Given the description of an element on the screen output the (x, y) to click on. 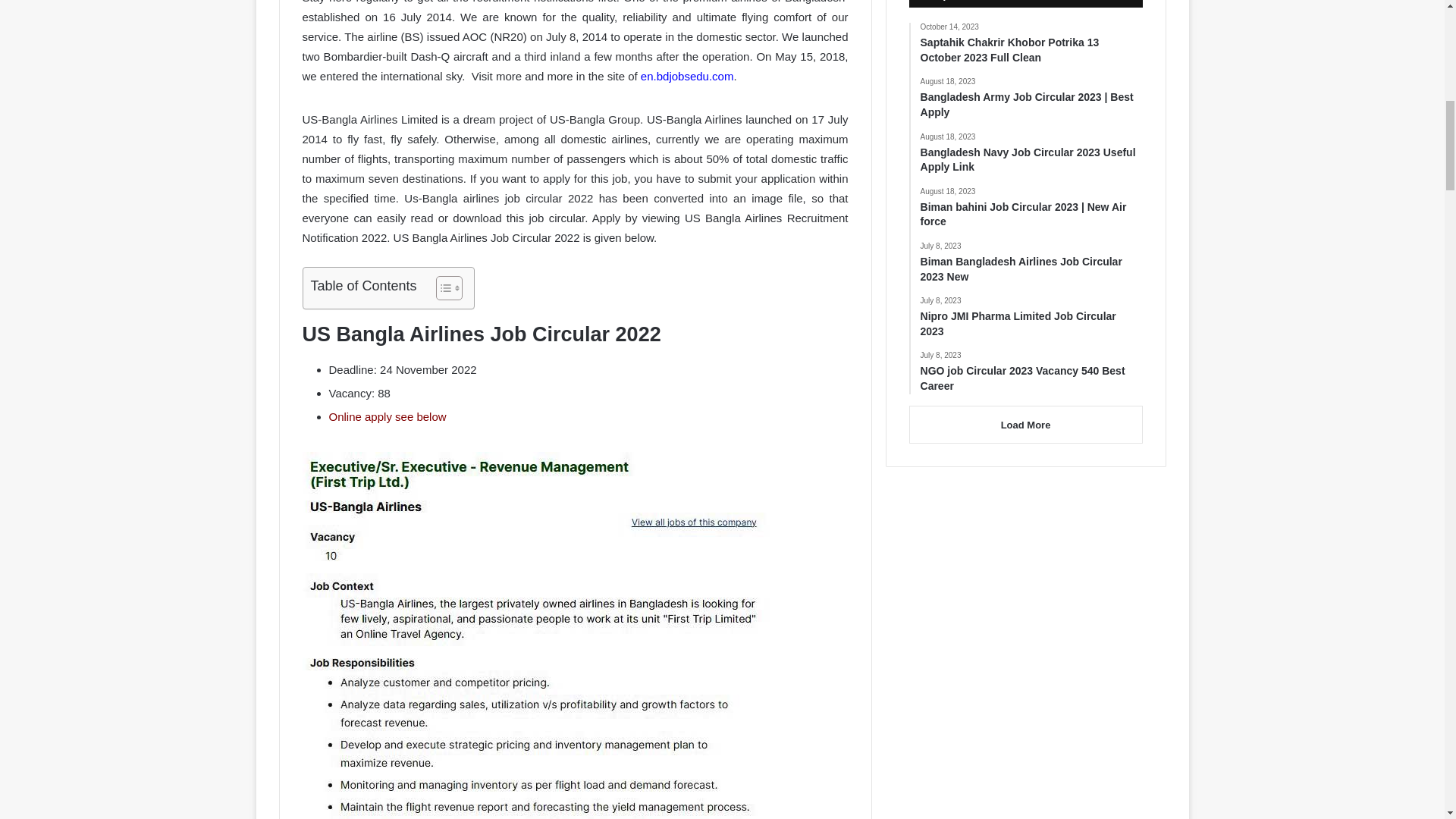
en.bdjobsedu.com (686, 75)
